Given the description of an element on the screen output the (x, y) to click on. 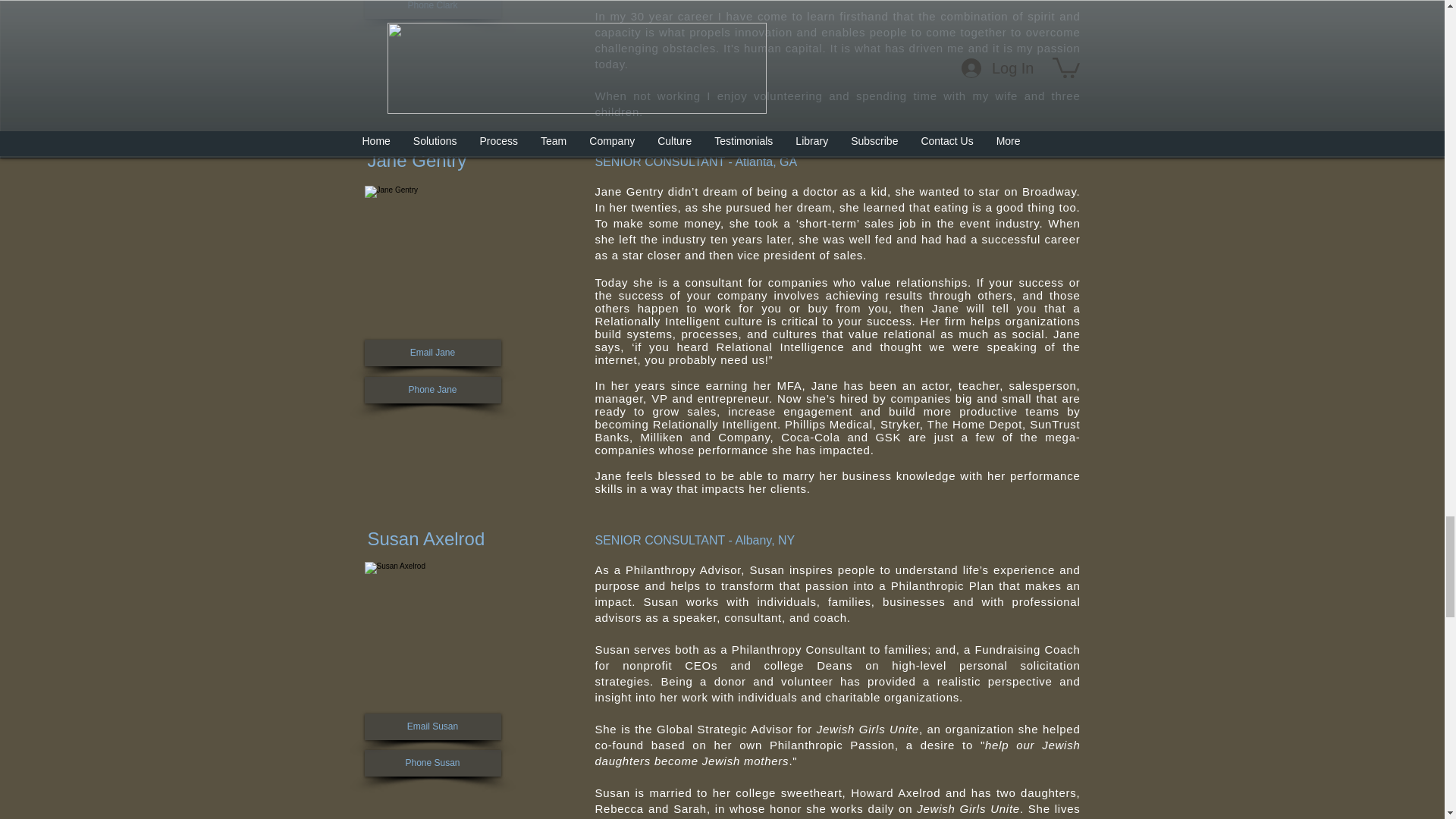
Phone Clark (432, 9)
Email Jane (432, 352)
Phone Jane (432, 389)
Email Susan (432, 726)
Phone Susan (432, 763)
